Given the description of an element on the screen output the (x, y) to click on. 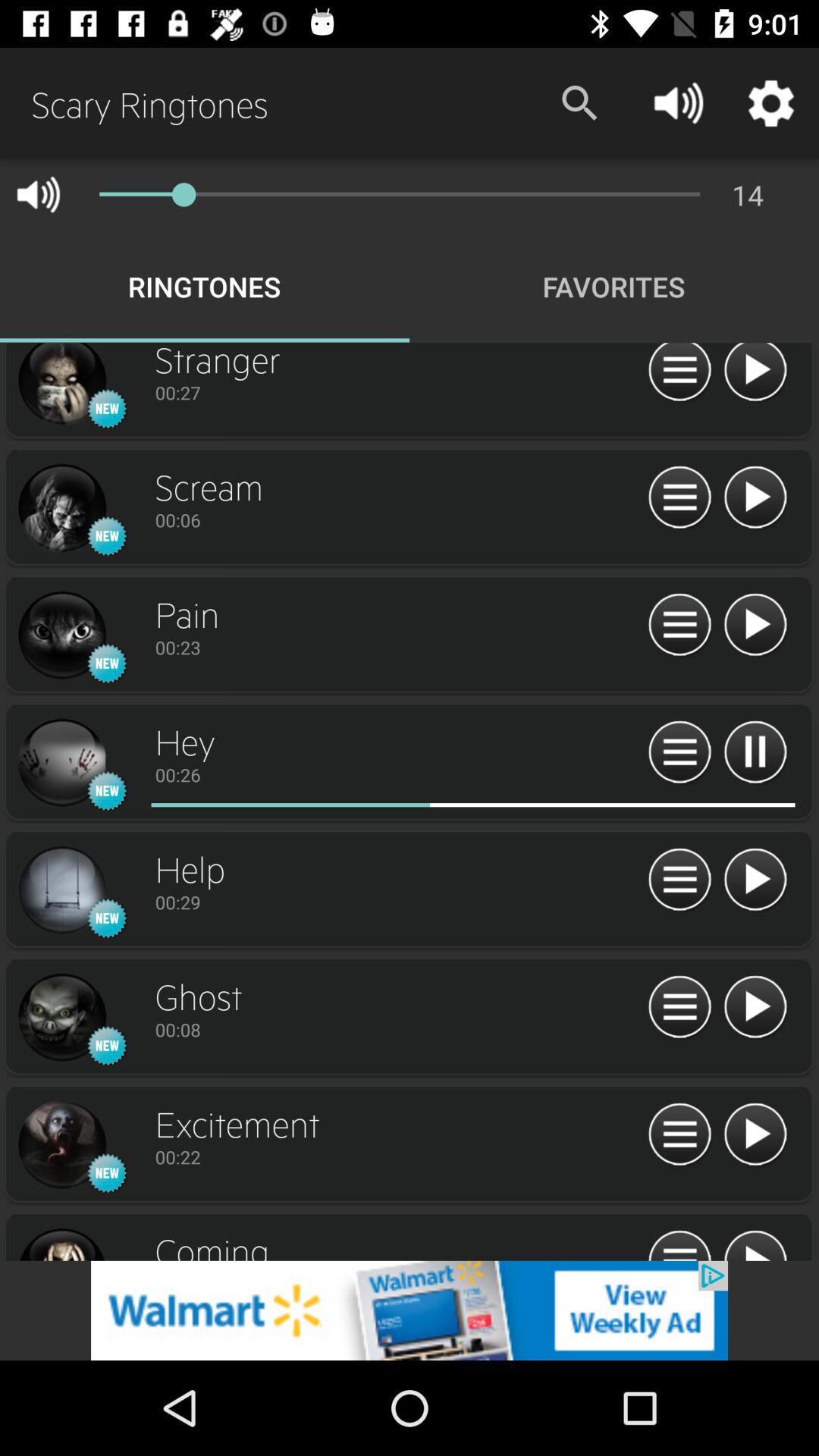
play option (755, 625)
